Given the description of an element on the screen output the (x, y) to click on. 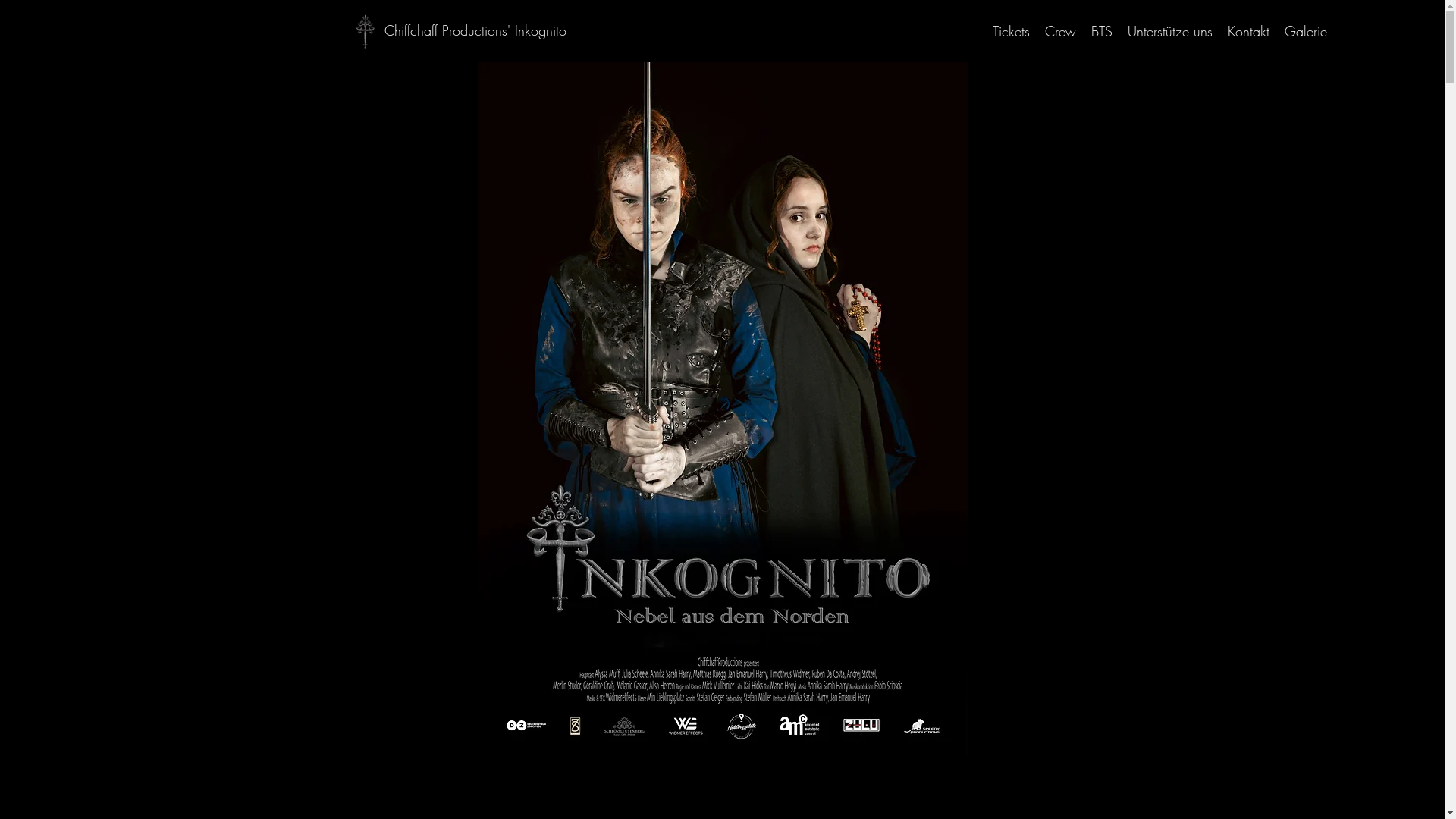
Galerie Element type: text (1305, 30)
Crew Element type: text (1060, 30)
Kontakt Element type: text (1248, 30)
Chiffchaff Productions' Inkognito Element type: text (474, 30)
BTS Element type: text (1101, 30)
Tickets Element type: text (1011, 30)
